Given the description of an element on the screen output the (x, y) to click on. 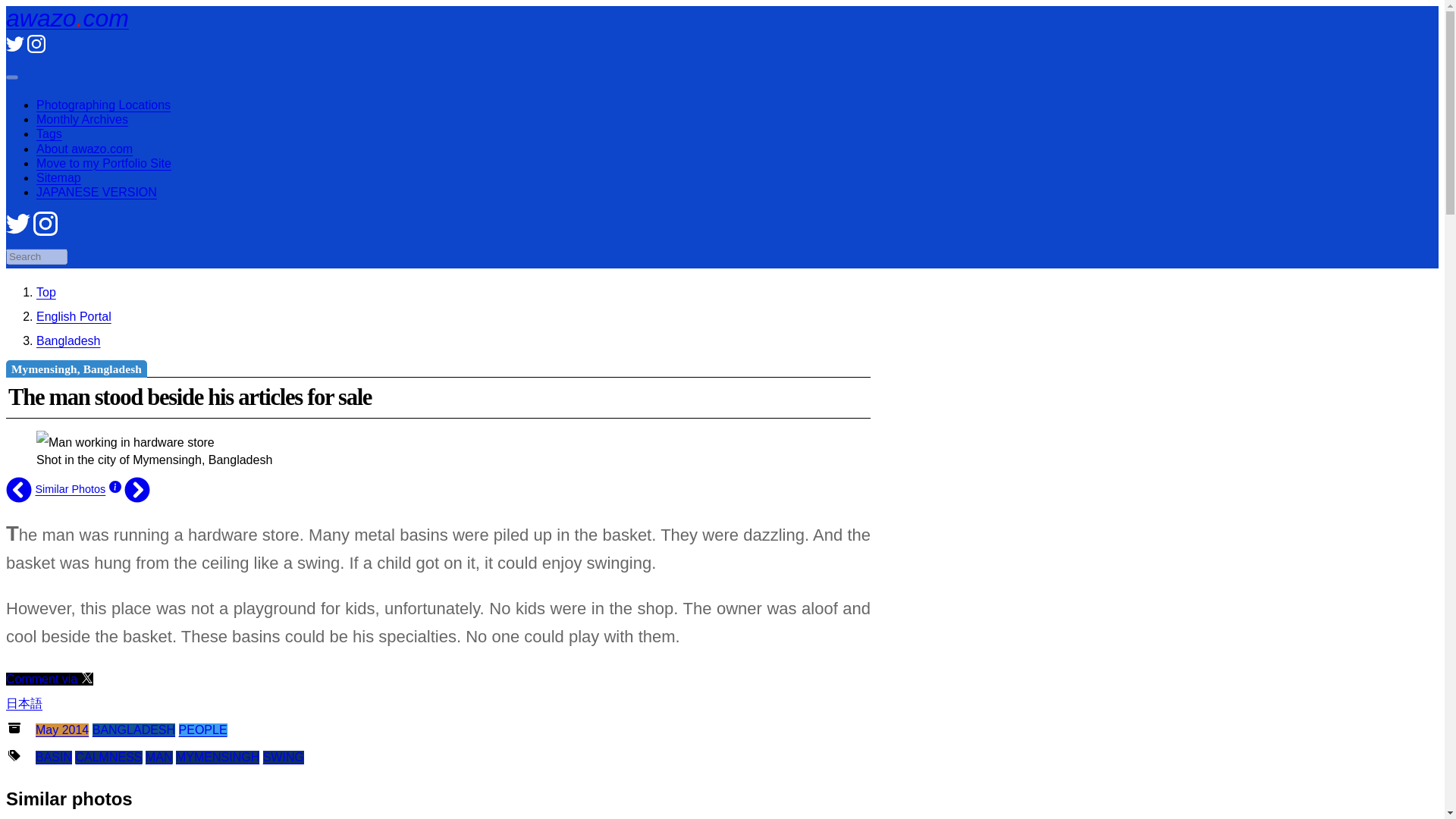
Twitter (17, 231)
JAPANESE VERSION (96, 192)
Photos Tagged with SWING (283, 757)
MONTHLY ARCHIVE of May 2014 (61, 729)
English Portal (74, 316)
CATEGORY ARCHIVE of BANGLADESH (133, 729)
CALMNESS (108, 757)
Comment via (49, 678)
MYMENSINGH (217, 757)
MAN (159, 757)
